Given the description of an element on the screen output the (x, y) to click on. 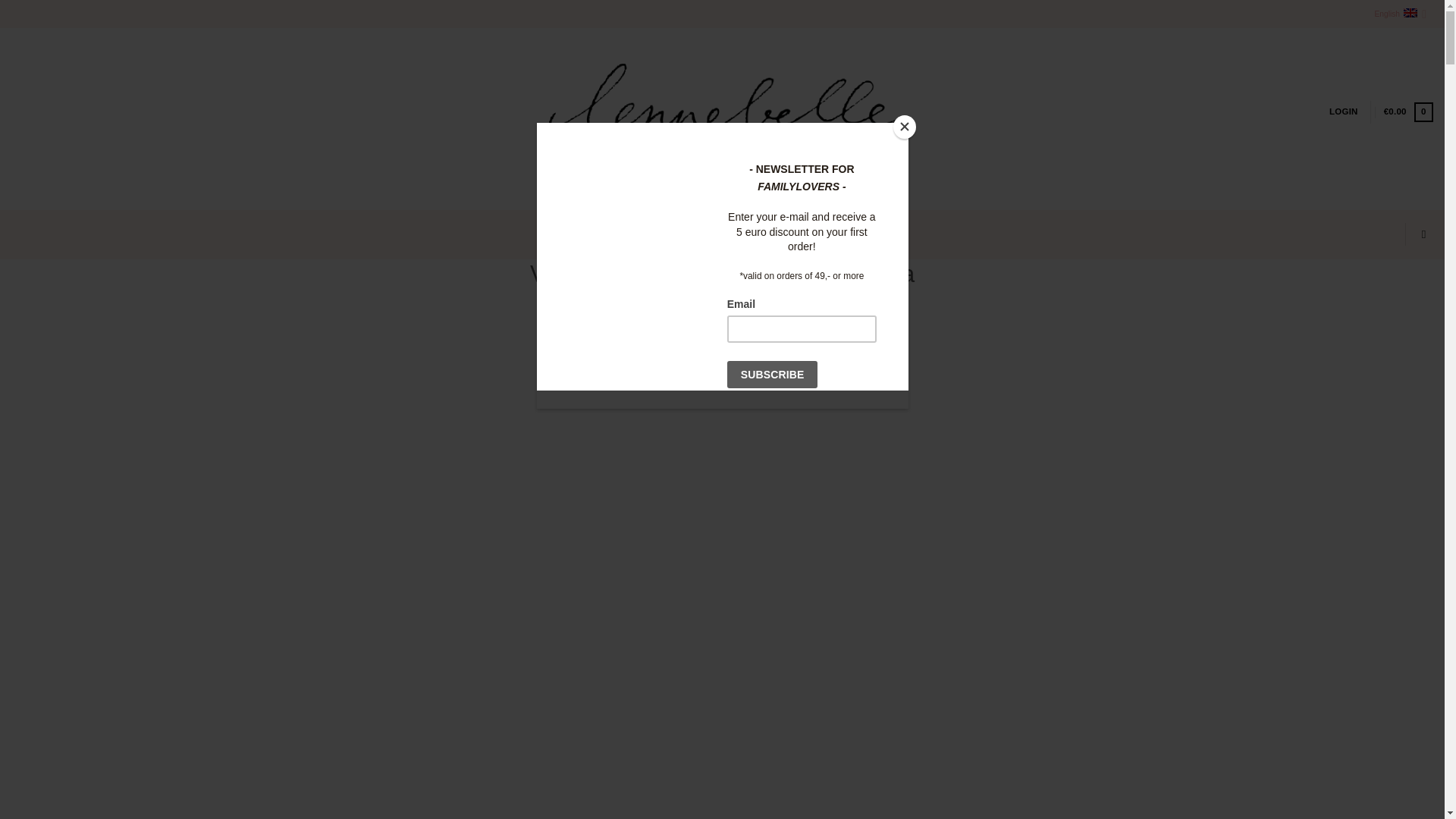
Lennebelle (721, 118)
LOGIN (1343, 111)
SHOP JEWELRY (613, 234)
Cart (1408, 111)
English (1400, 13)
